Given the description of an element on the screen output the (x, y) to click on. 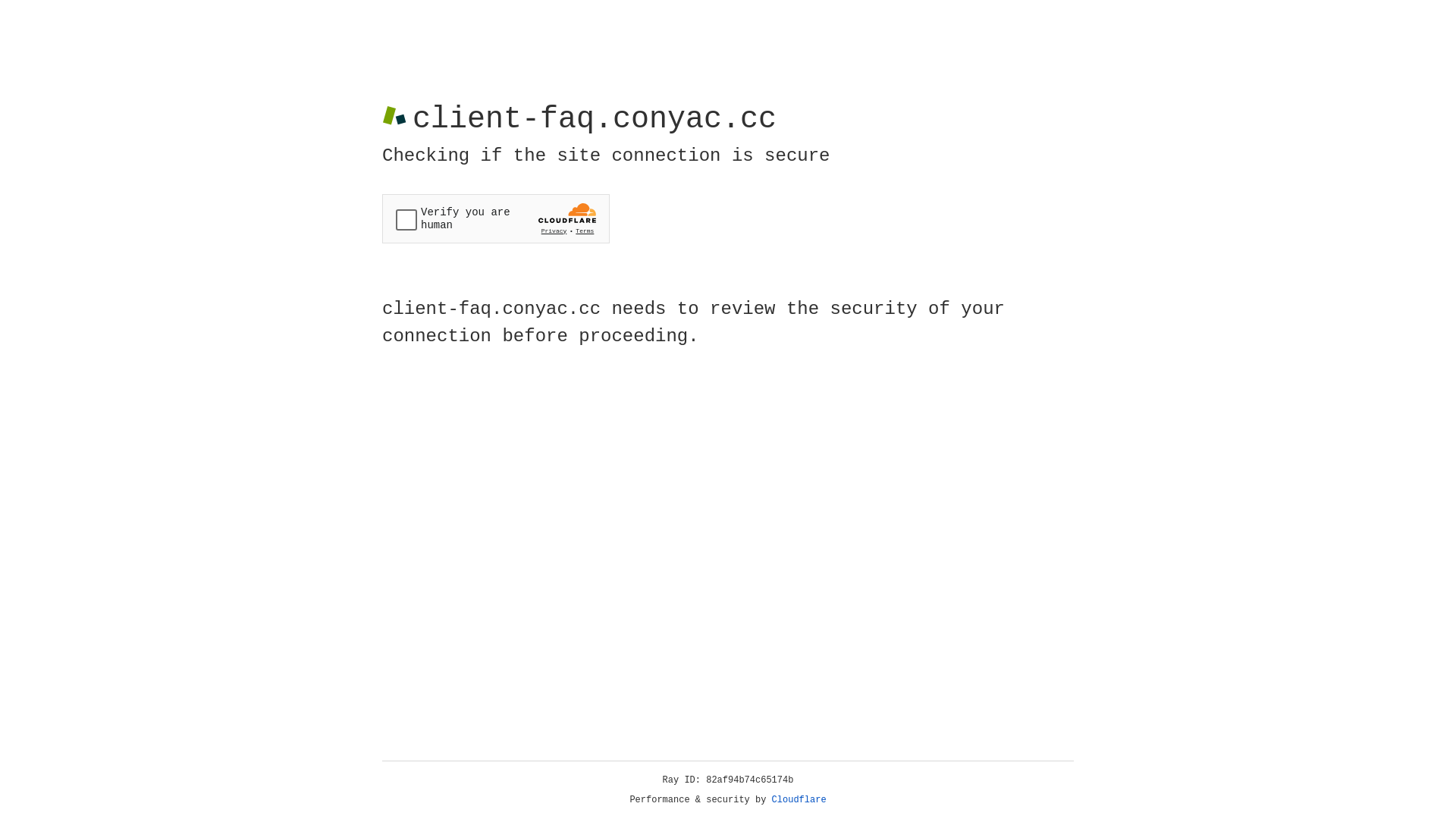
Cloudflare Element type: text (798, 799)
Widget containing a Cloudflare security challenge Element type: hover (495, 218)
